Given the description of an element on the screen output the (x, y) to click on. 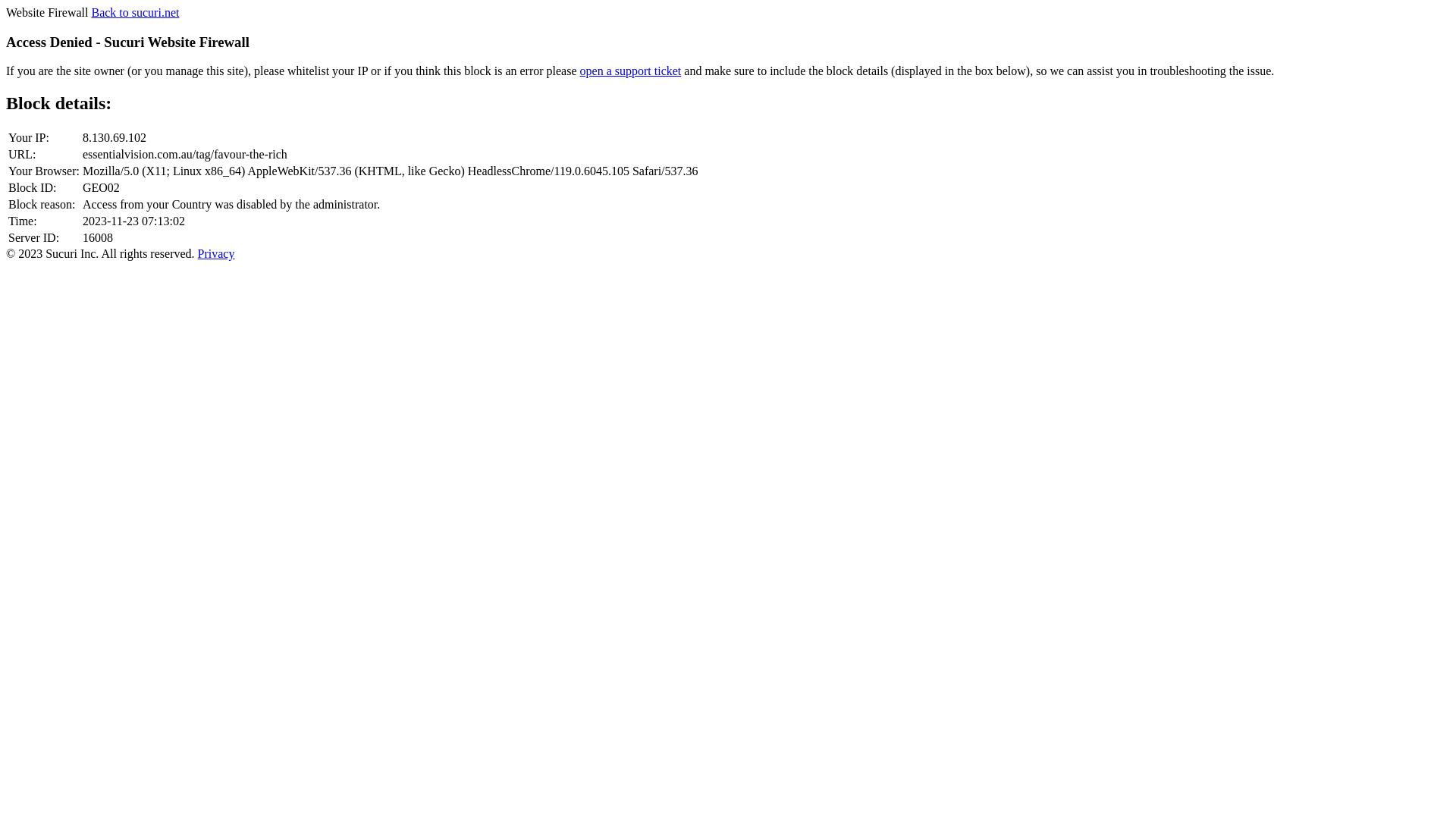
Back to sucuri.net Element type: text (134, 12)
Privacy Element type: text (216, 253)
open a support ticket Element type: text (630, 70)
